Given the description of an element on the screen output the (x, y) to click on. 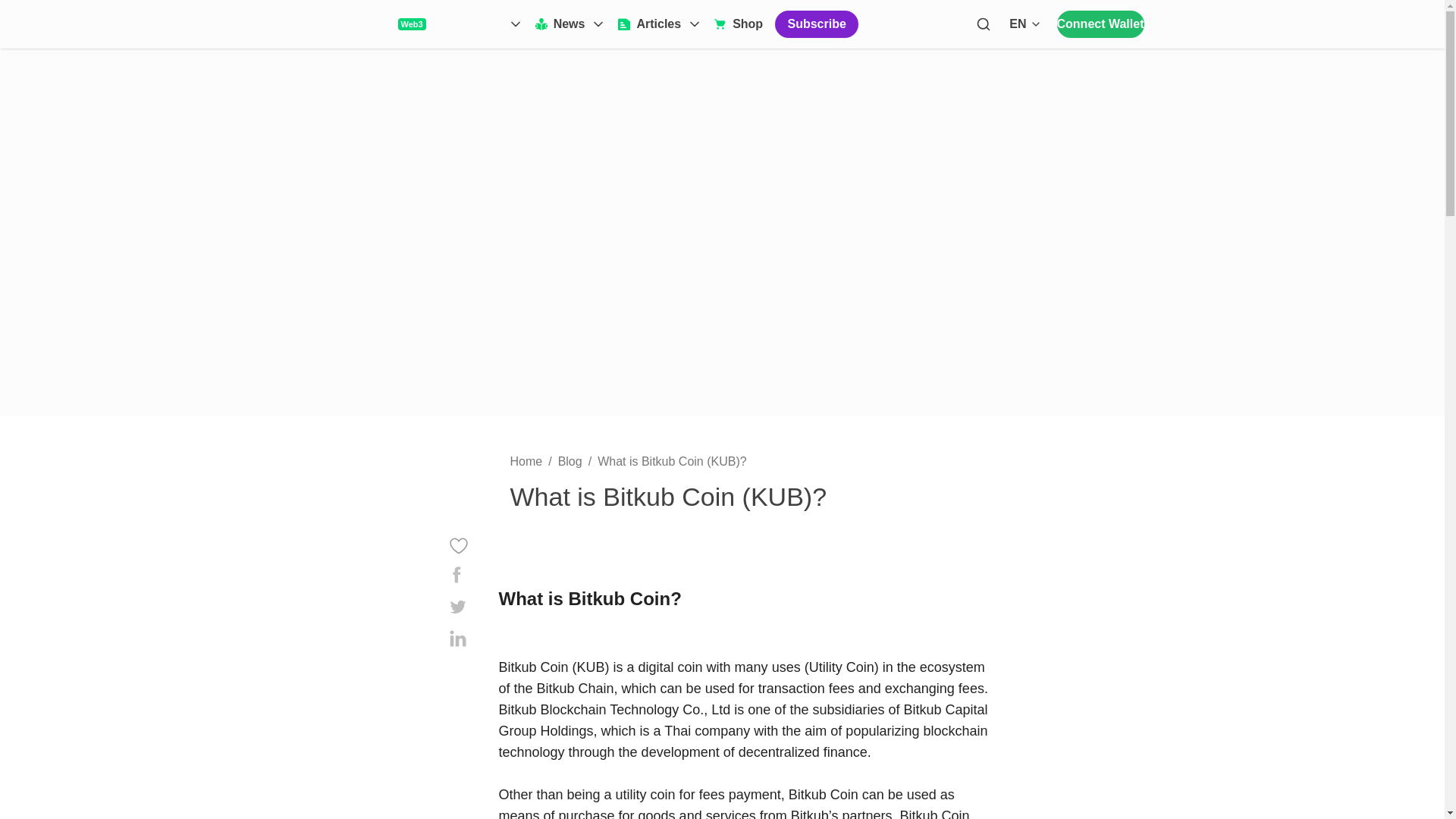
Subscribe (816, 23)
Articles (659, 24)
Shop (738, 24)
Connect Wallet (1026, 24)
News (1100, 23)
